Given the description of an element on the screen output the (x, y) to click on. 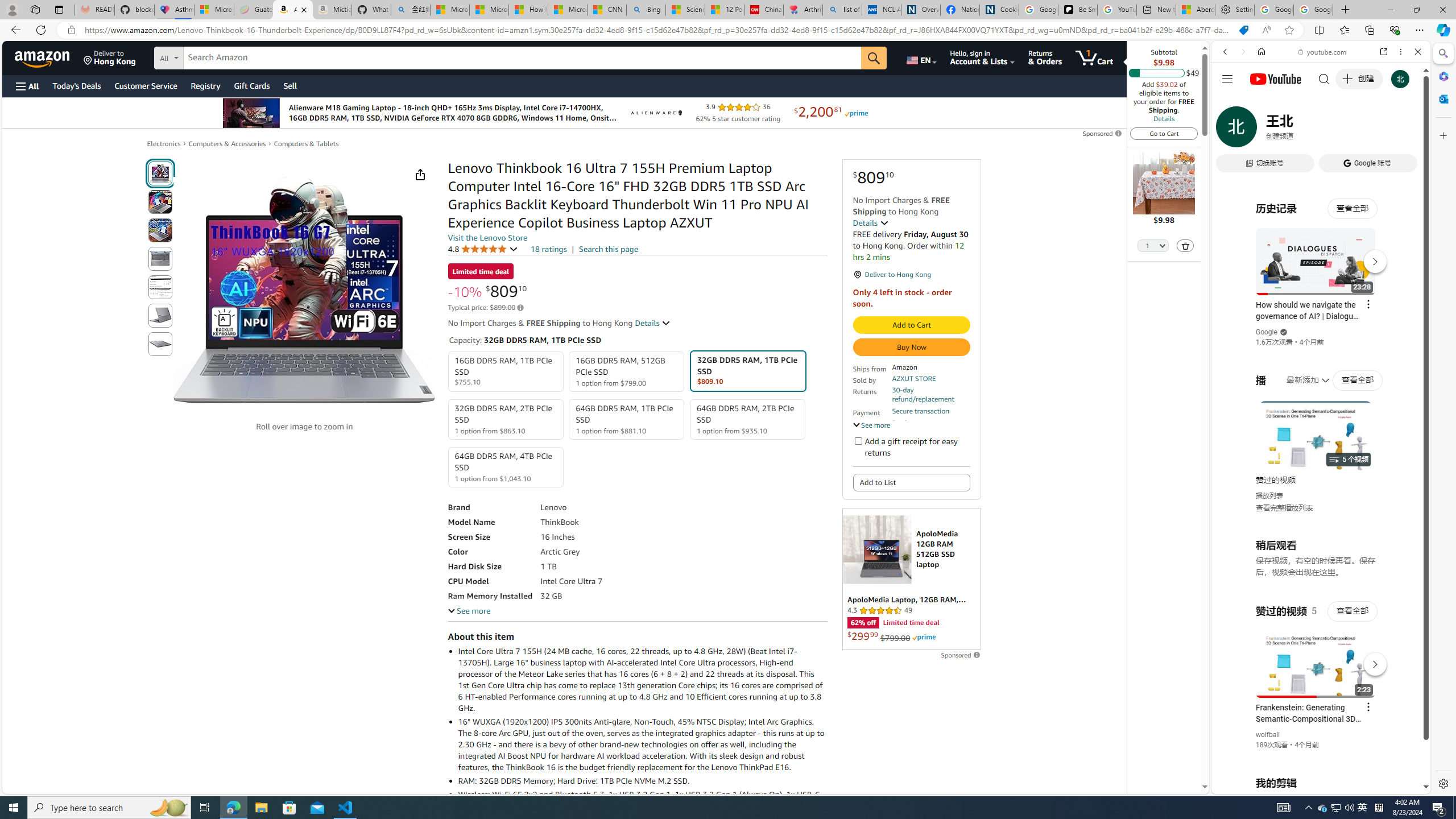
Close Outlook pane (1442, 98)
Settings and more (Alt+F) (1419, 29)
Copilot (Ctrl+Shift+.) (1442, 29)
Hello, sign in Account & Lists (982, 57)
AZXUT STORE (913, 378)
How I Got Rid of Microsoft Edge's Unnecessary Features (528, 9)
You have the best price! Shopping in Microsoft Edge (1243, 29)
64GB DDR5 RAM, 2TB PCIe SSD 1 option from $935.10 (747, 418)
Logo (655, 112)
Personal Profile (12, 9)
12 Popular Science Lies that Must be Corrected (724, 9)
